Given the description of an element on the screen output the (x, y) to click on. 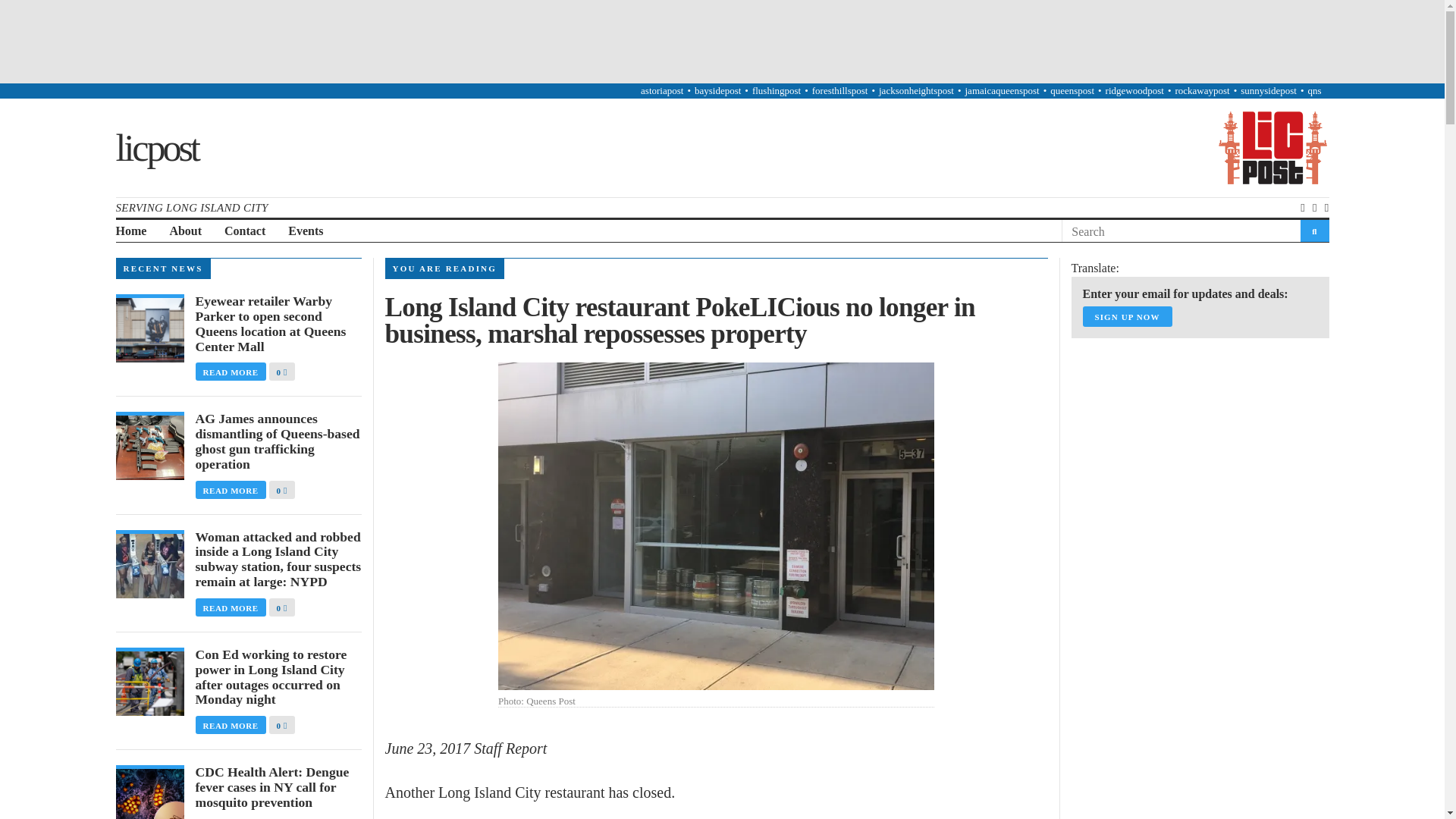
rockawaypost (1201, 90)
Contact (244, 231)
Home (131, 231)
Events (305, 231)
jacksonheightspost (916, 90)
queenspost (1071, 90)
flushingpost (776, 90)
qns (1313, 90)
3rd party ad content (721, 41)
jamaicaqueenspost (1001, 90)
foresthillspost (839, 90)
About (185, 231)
baysidepost (717, 90)
ridgewoodpost (1134, 90)
licpost (155, 147)
